Given the description of an element on the screen output the (x, y) to click on. 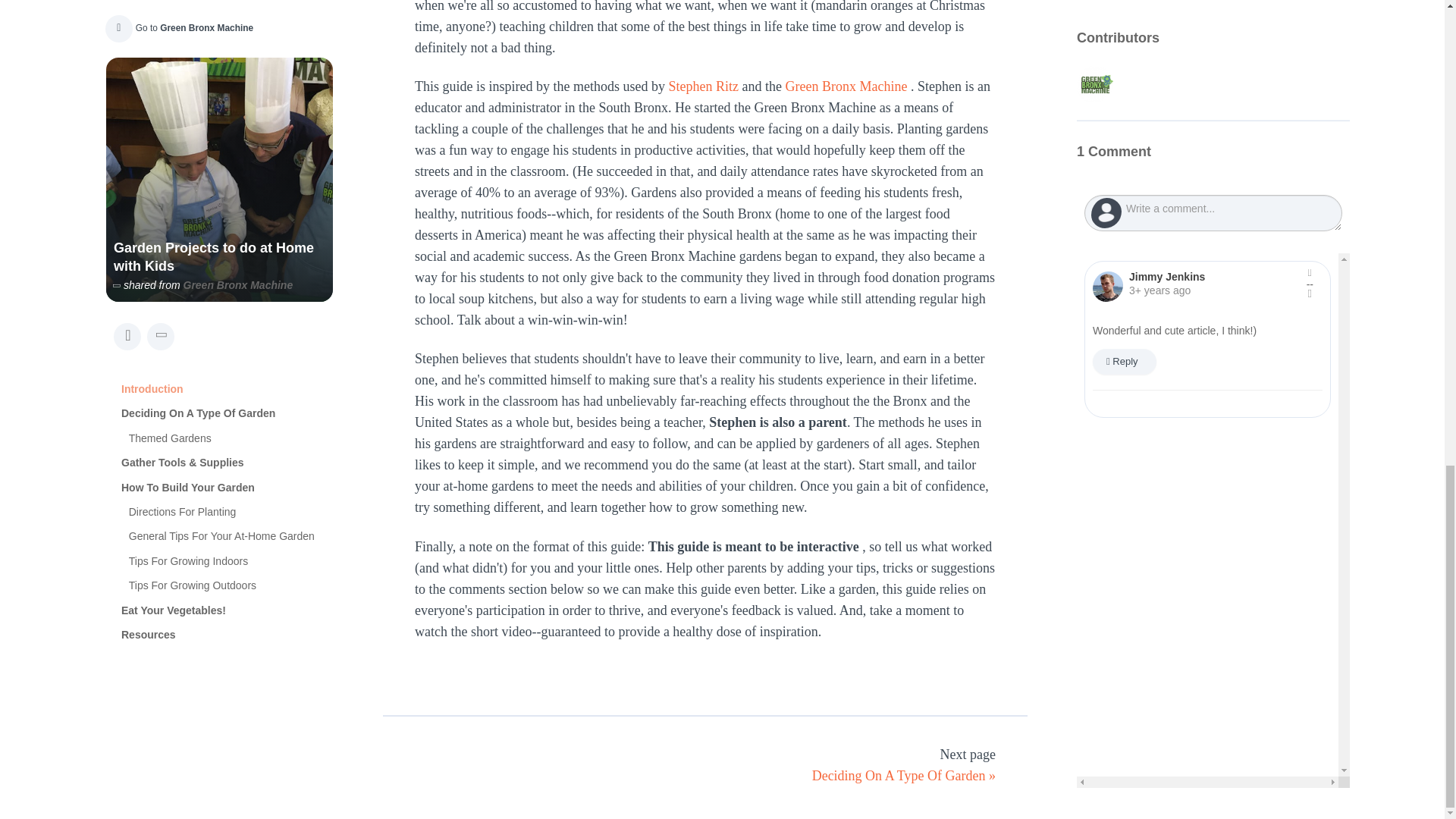
Green Bronx Machine (845, 86)
Stephen Ritz (703, 86)
